Given the description of an element on the screen output the (x, y) to click on. 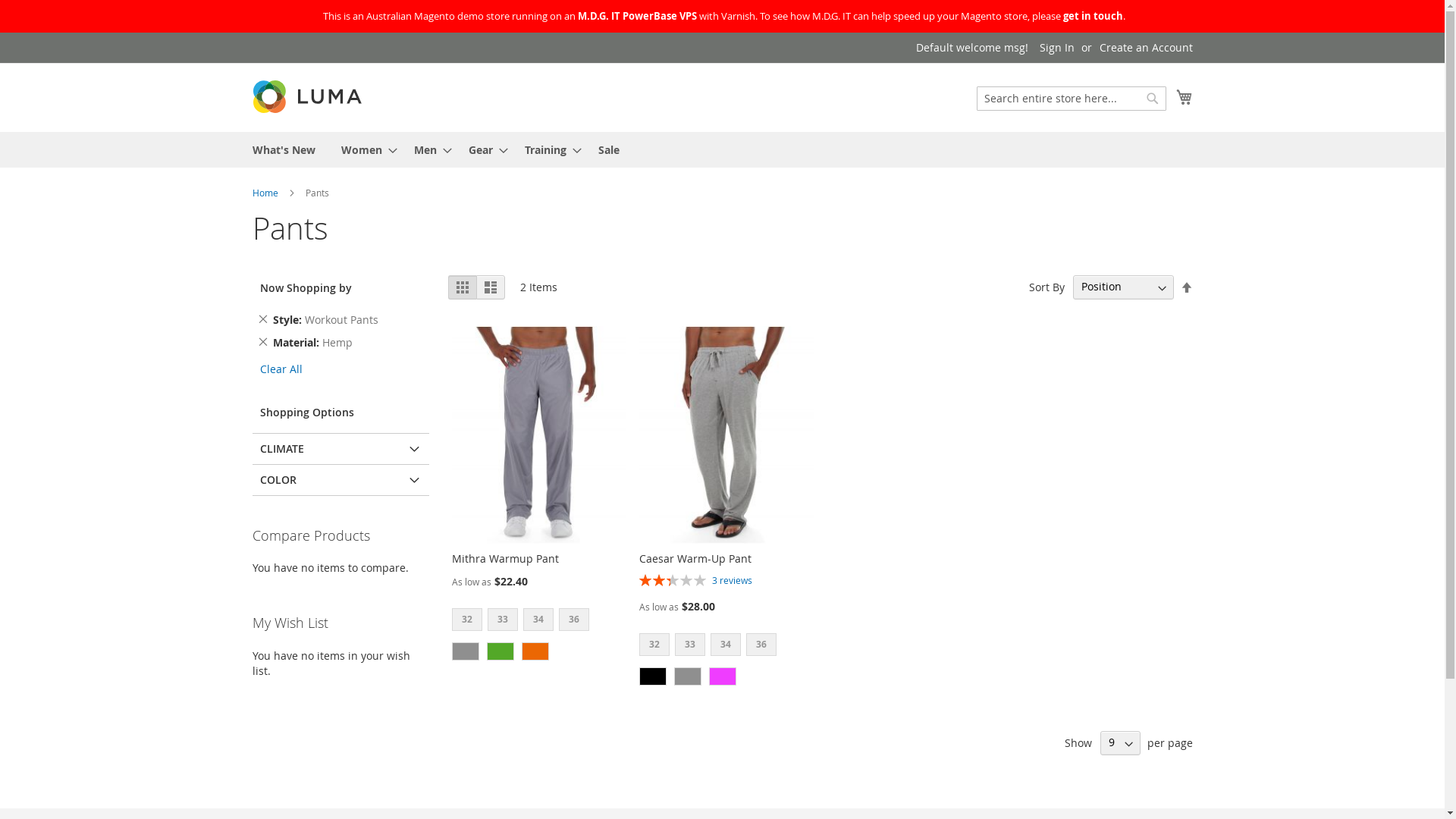
Women Element type: text (364, 149)
Sale Element type: text (607, 149)
Set Descending Direction Element type: text (1185, 287)
List Element type: text (490, 287)
Men Element type: text (427, 149)
Add to Cart Element type: hover (290, 668)
Gear Element type: text (483, 149)
Skip to Content Element type: text (251, 39)
Home Element type: text (264, 192)
Clear All Element type: text (280, 368)
3 reviews Element type: text (732, 580)
Add to Cart Element type: hover (290, 693)
Sign In Element type: text (1055, 47)
Caesar Warm-Up Pant Element type: text (695, 558)
get in touch Element type: text (1093, 15)
Search Element type: text (1152, 98)
Training Element type: text (548, 149)
What's New Element type: text (282, 149)
Remove This Item Element type: text (261, 318)
Create an Account Element type: text (1145, 47)
Mithra Warmup Pant Element type: text (504, 558)
M.D.G. IT PowerBase VPS Element type: text (636, 15)
Remove This Item Element type: text (261, 341)
My Cart Element type: text (1183, 96)
